Given the description of an element on the screen output the (x, y) to click on. 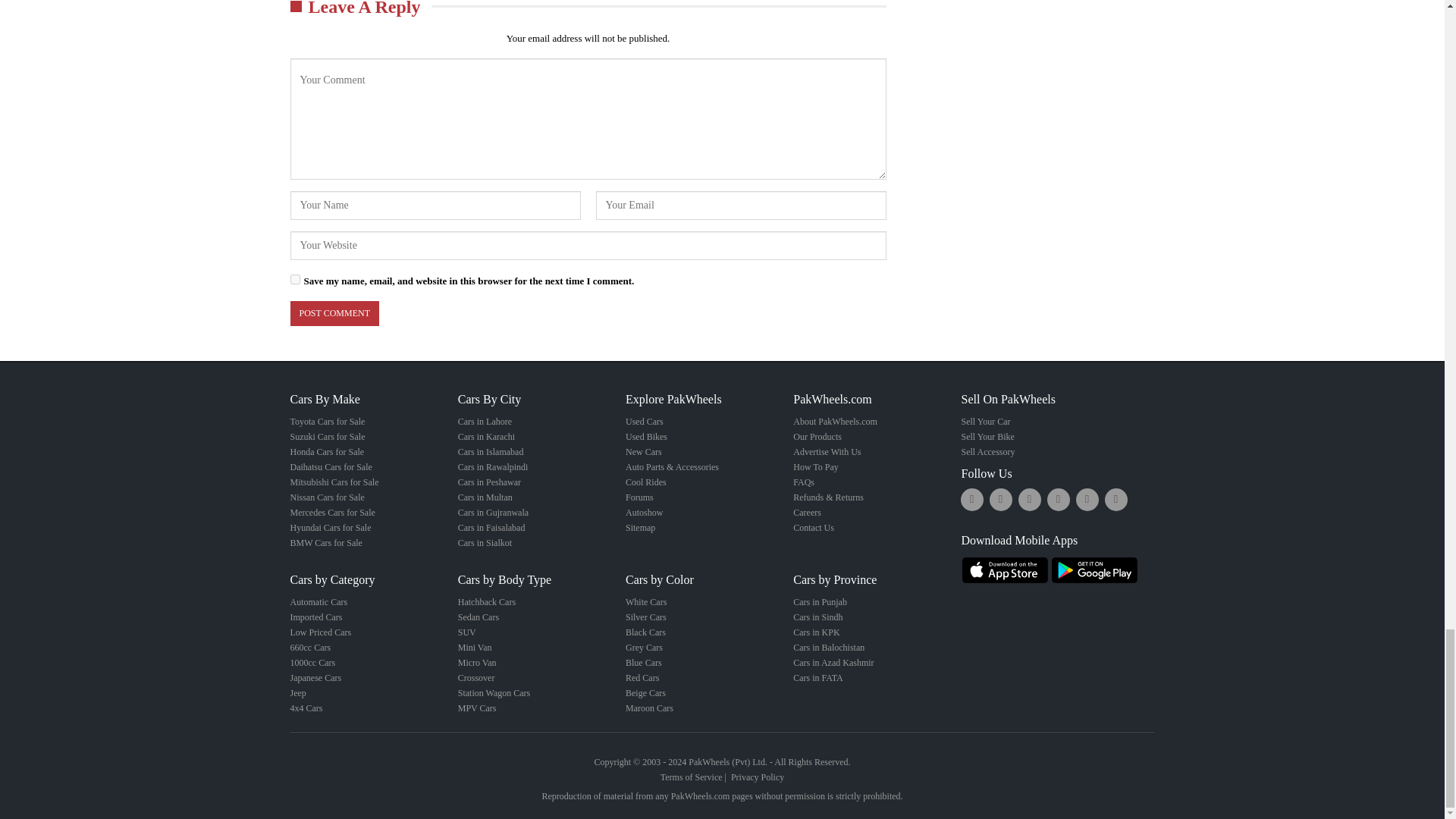
yes (294, 279)
Post Comment (333, 313)
